Given the description of an element on the screen output the (x, y) to click on. 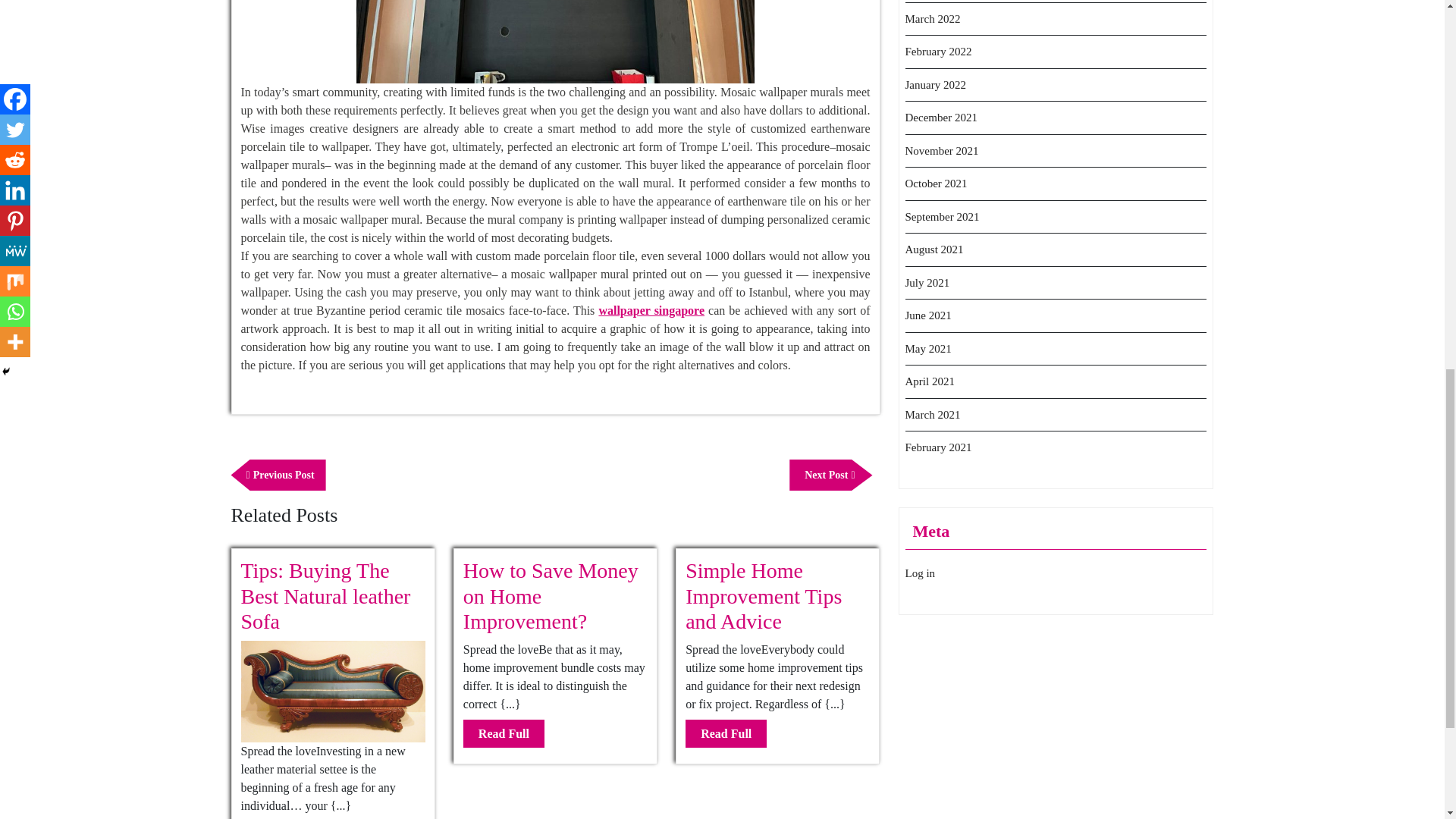
wallpaper singapore (503, 733)
